Given the description of an element on the screen output the (x, y) to click on. 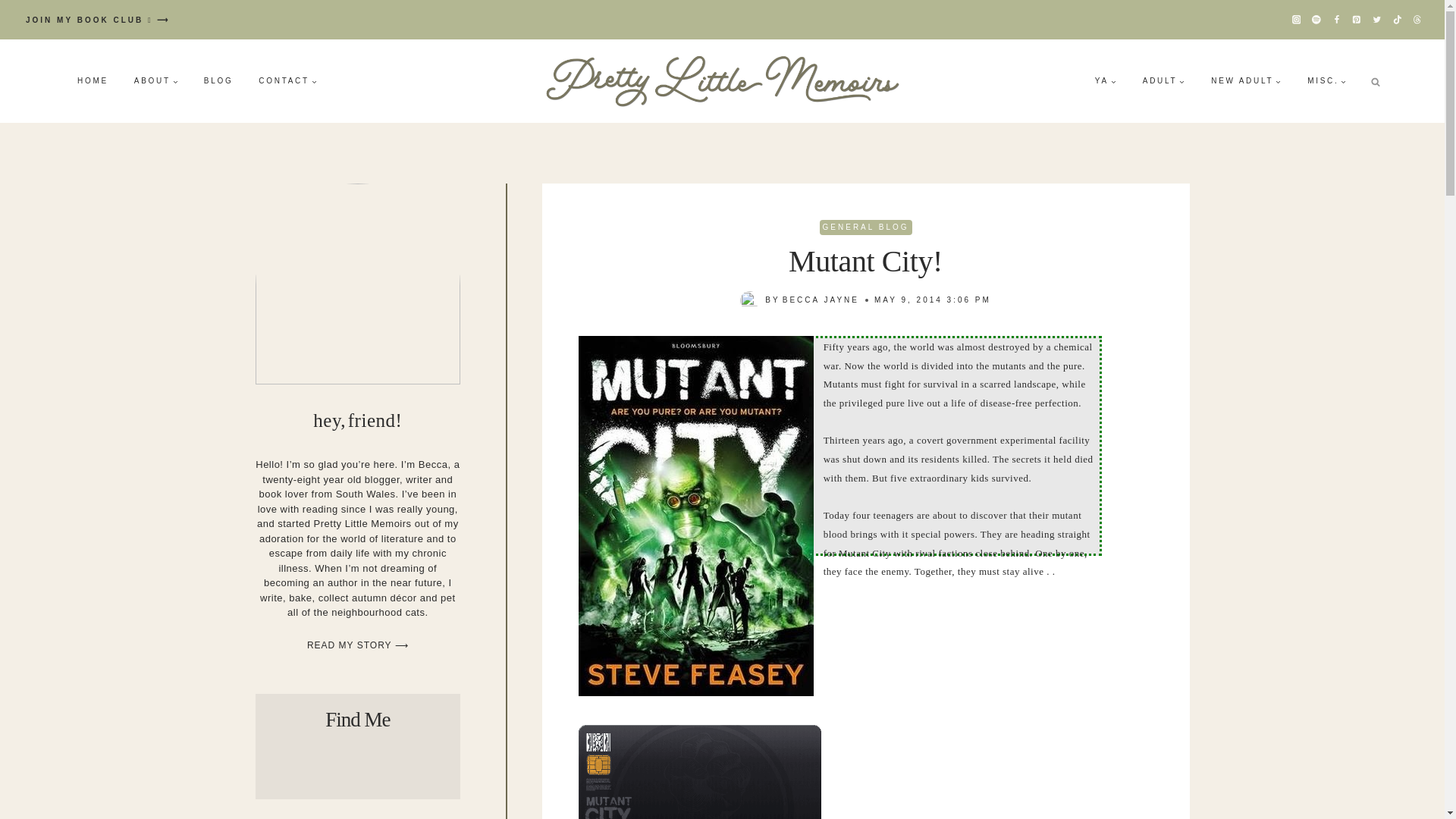
HOME (92, 80)
ABOUT (155, 80)
CONTACT (288, 80)
YA (1105, 80)
BLOG (218, 80)
